Given the description of an element on the screen output the (x, y) to click on. 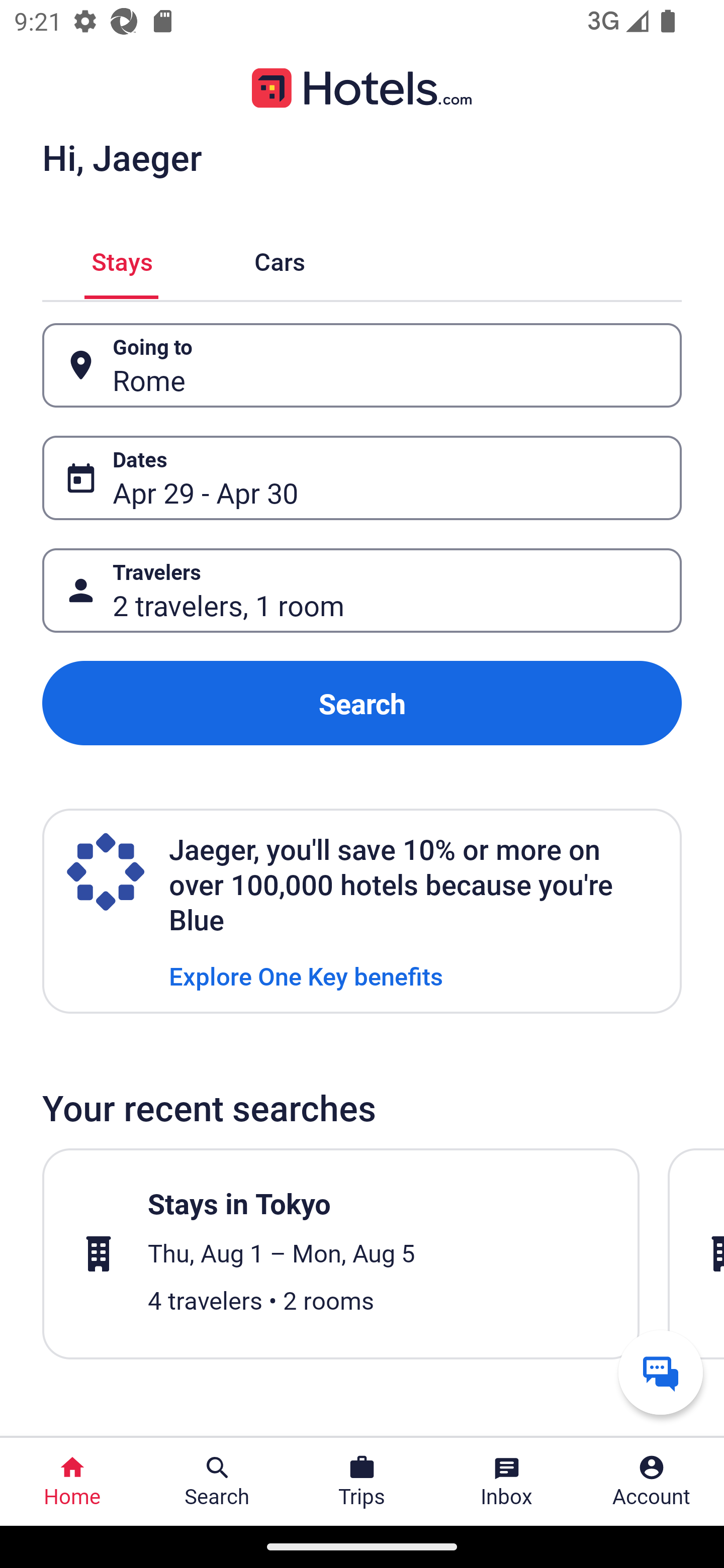
Hi, Jaeger (121, 156)
Cars (279, 259)
Going to Button Rome (361, 365)
Dates Button Apr 29 - Apr 30 (361, 477)
Travelers Button 2 travelers, 1 room (361, 590)
Search (361, 702)
Get help from a virtual agent (660, 1371)
Search Search Button (216, 1481)
Trips Trips Button (361, 1481)
Inbox Inbox Button (506, 1481)
Account Profile. Button (651, 1481)
